Given the description of an element on the screen output the (x, y) to click on. 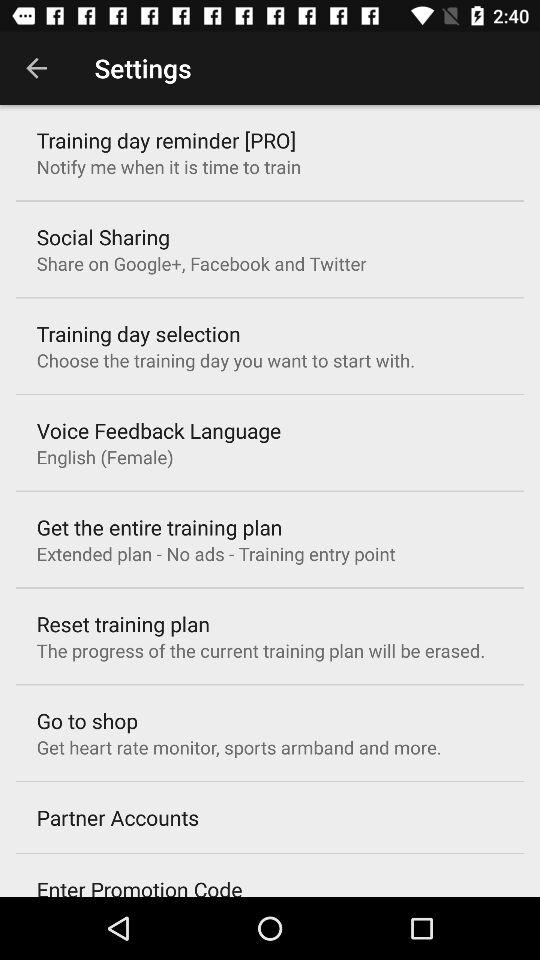
turn off the icon below get the entire icon (215, 553)
